Given the description of an element on the screen output the (x, y) to click on. 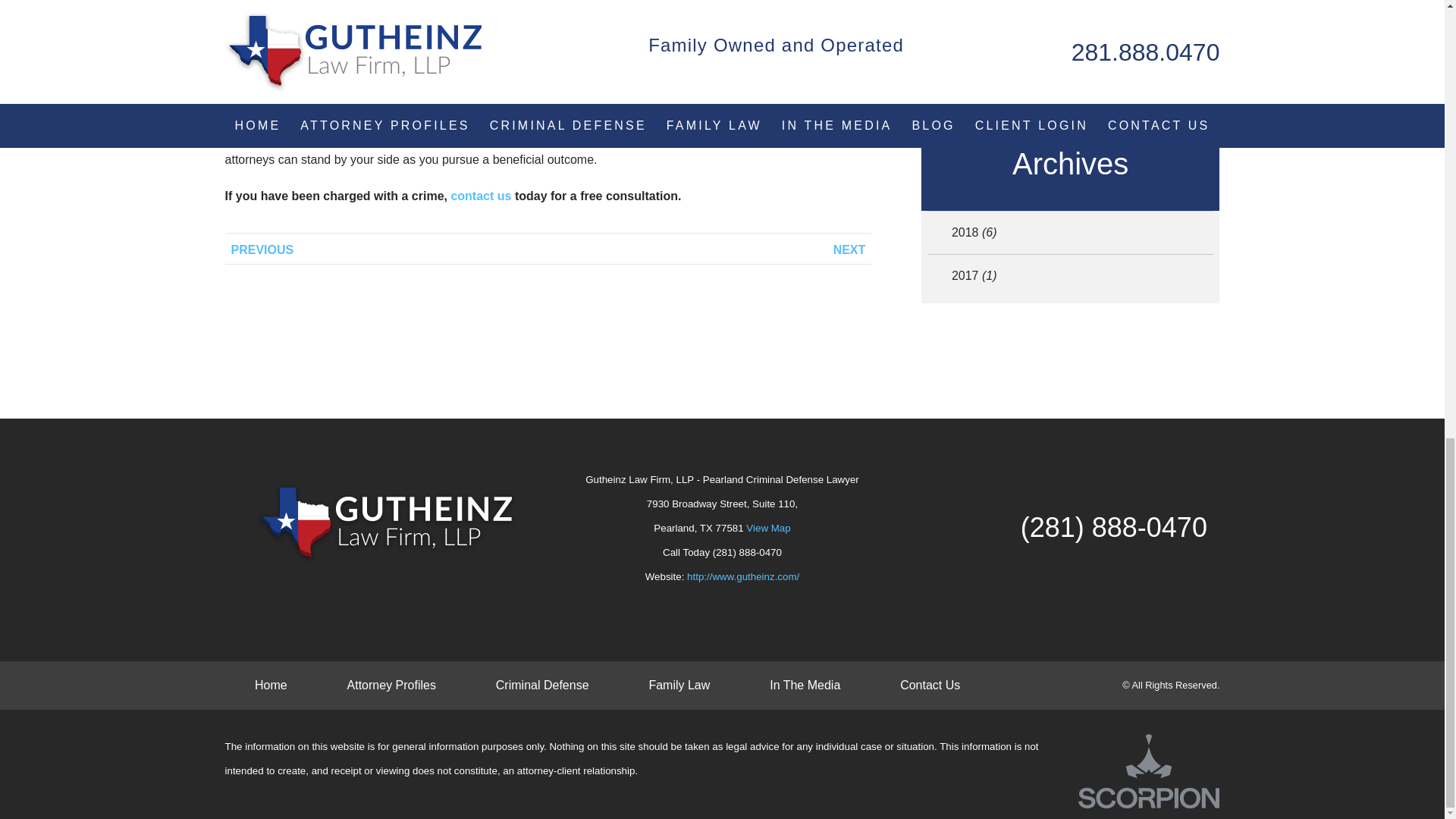
Internet Marketing Experts (1149, 771)
Harris County Grand Jury Witness Harassed by Houston Cop (709, 248)
Gutheinz Law Firm, LLP (386, 523)
